Given the description of an element on the screen output the (x, y) to click on. 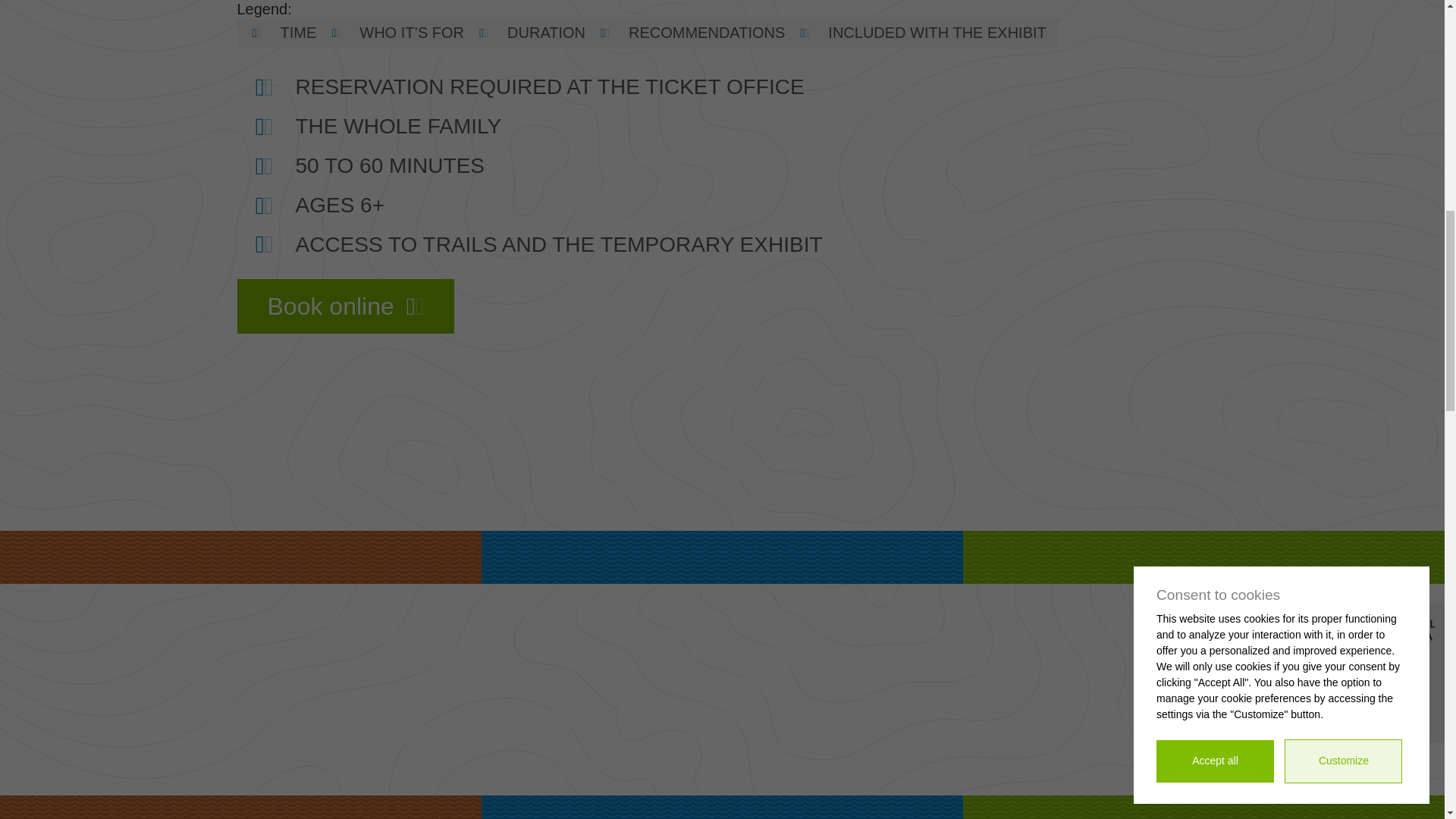
RESERVATION REQUIRED AT THE TICKET OFFICE (727, 87)
Book online (344, 306)
